Given the description of an element on the screen output the (x, y) to click on. 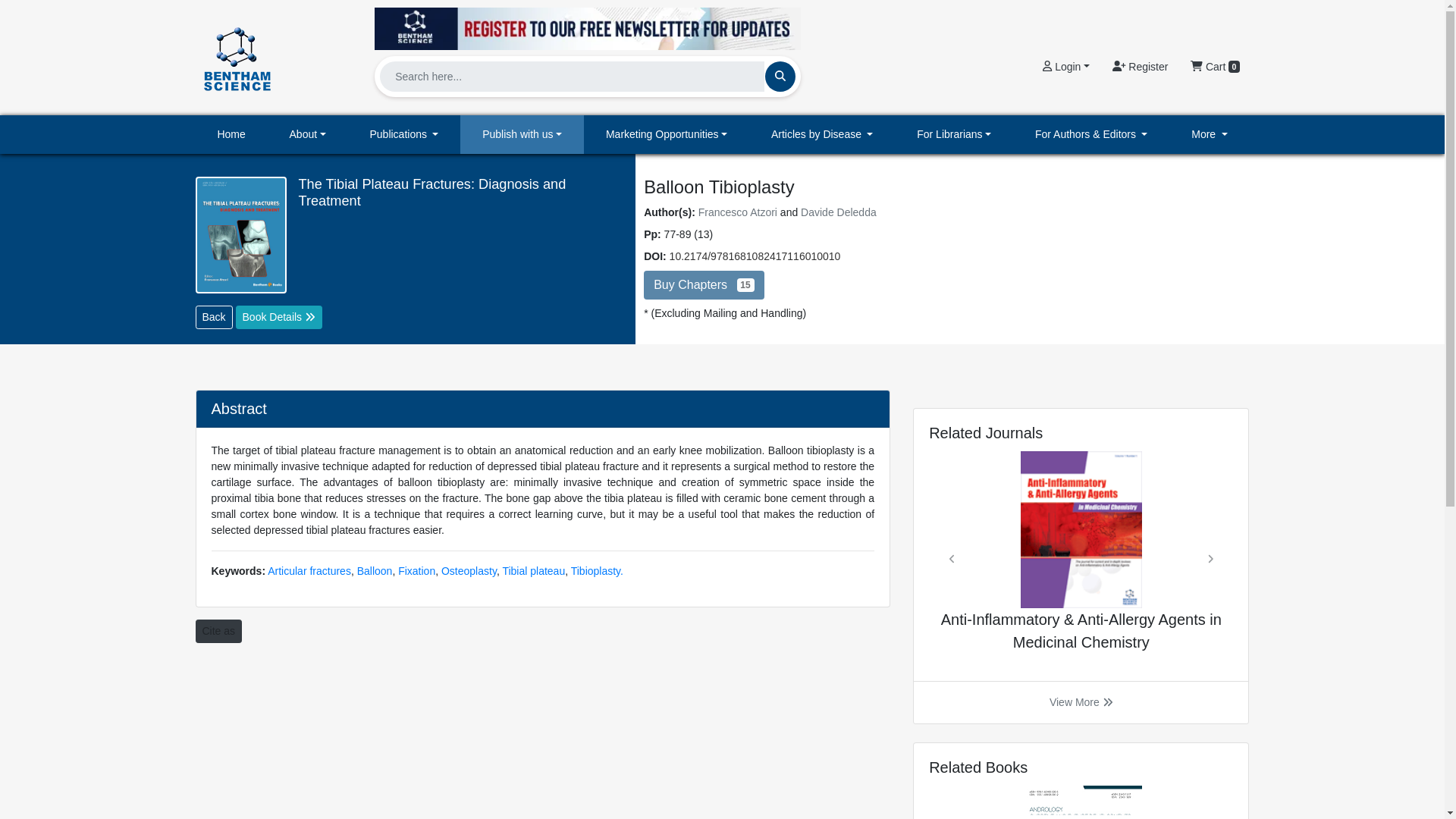
Home (231, 134)
newsletter banner (587, 28)
About (307, 134)
Register (1139, 67)
newsletter banner (587, 24)
Cart 0 (1214, 67)
Login (1065, 67)
Search Button (779, 76)
Publications (404, 134)
